Given the description of an element on the screen output the (x, y) to click on. 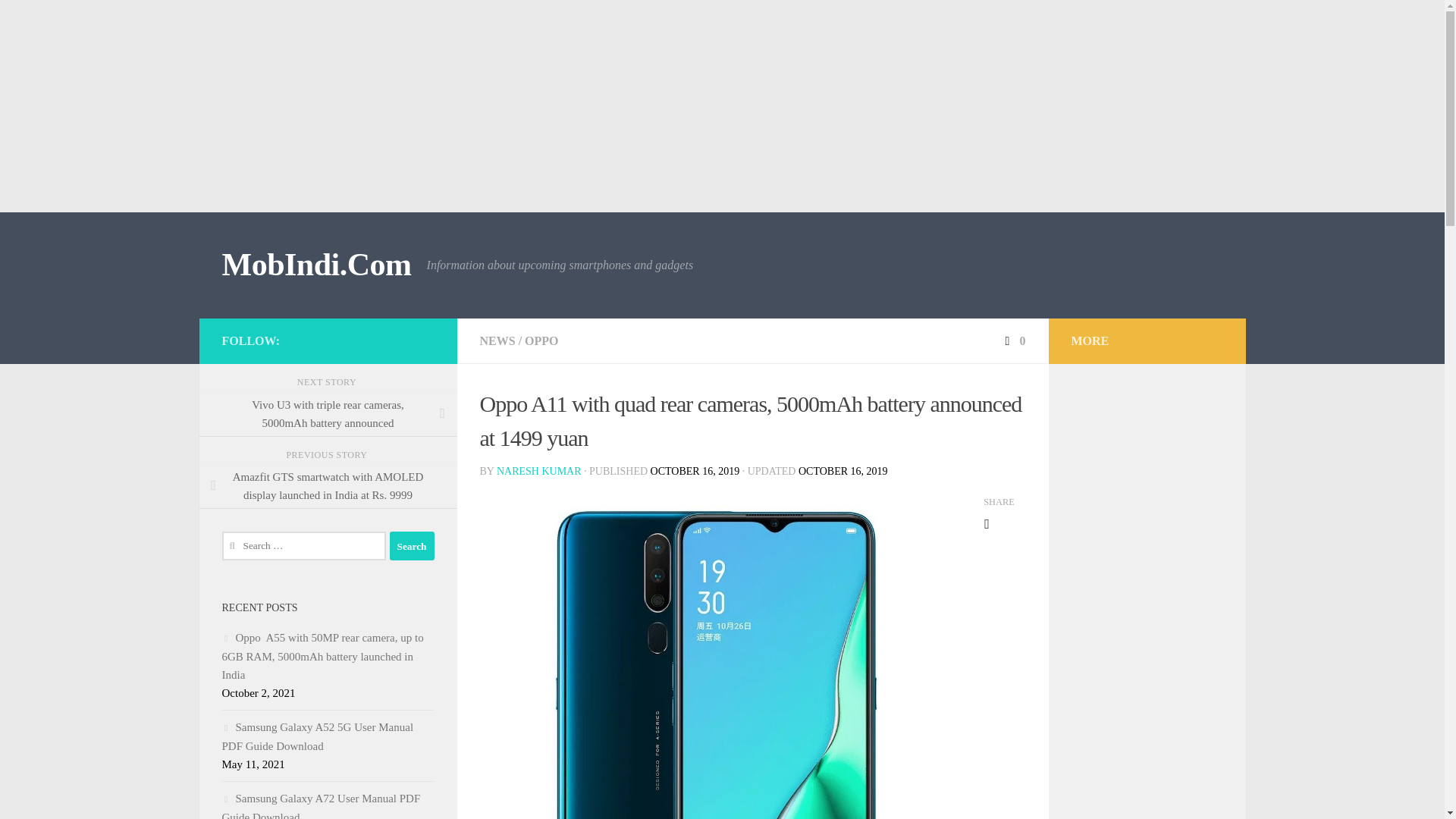
Search (411, 545)
0 (1013, 340)
Search (411, 545)
Posts by Naresh Kumar (538, 471)
Search (411, 545)
Samsung Galaxy A52 5G User Manual PDF Guide Download (317, 736)
NARESH KUMAR (538, 471)
Skip to content (59, 20)
